Given the description of an element on the screen output the (x, y) to click on. 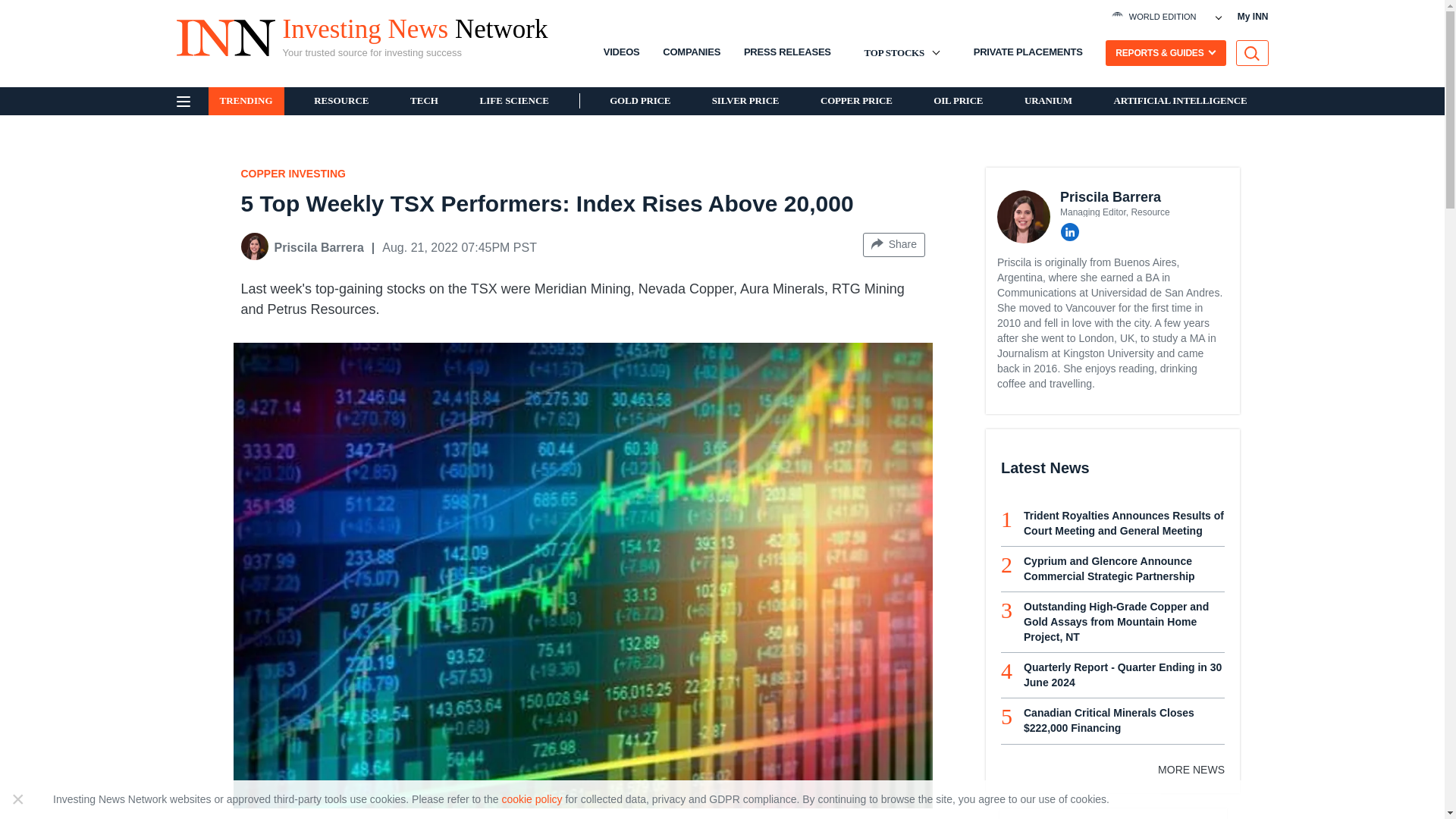
PRESS RELEASES (787, 51)
My INN (1252, 16)
VIDEOS (622, 51)
My INN (1252, 16)
COMPANIES (936, 16)
